Given the description of an element on the screen output the (x, y) to click on. 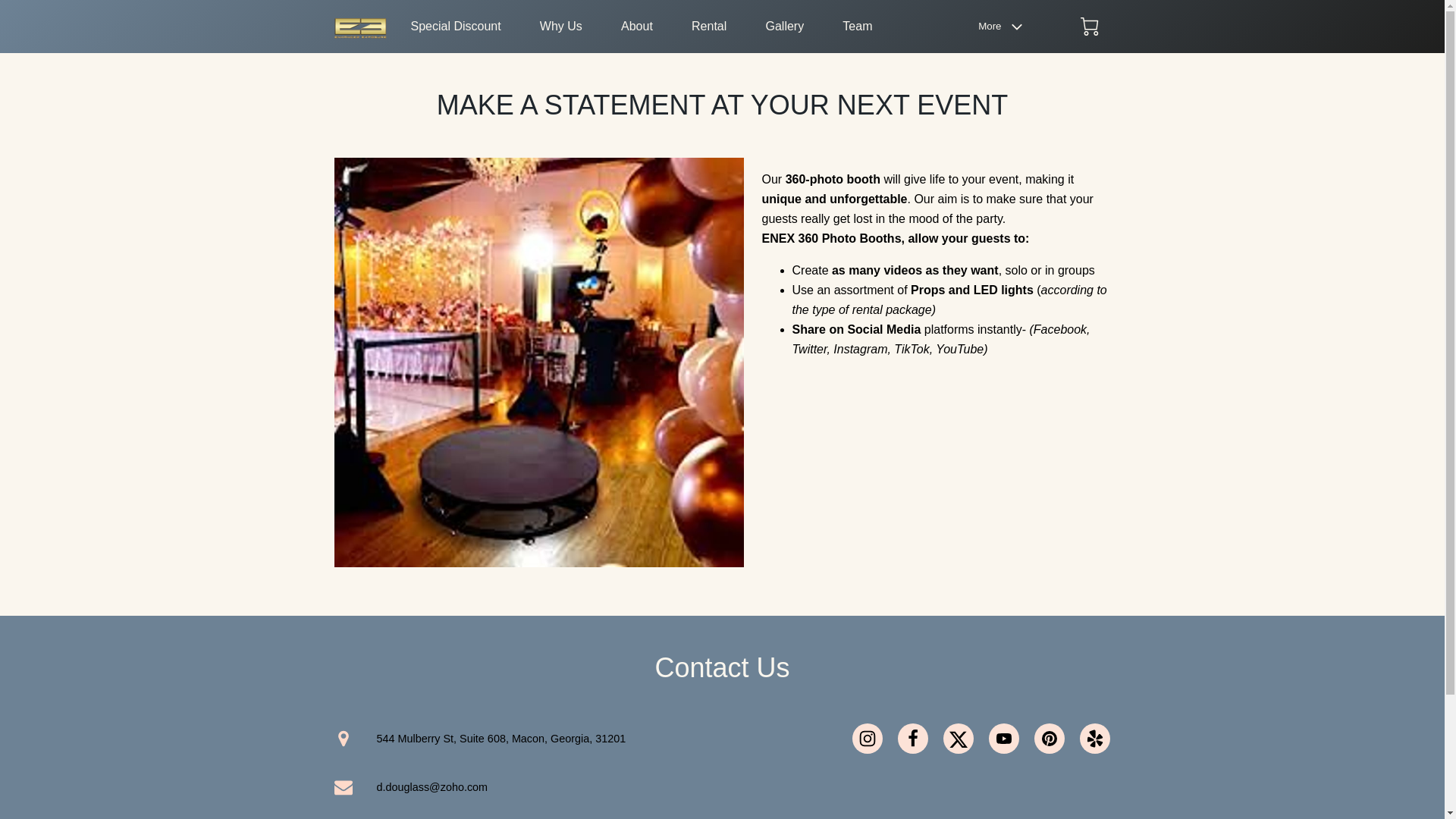
Why Us (561, 26)
0 (1088, 26)
Gallery (784, 26)
Rental (708, 26)
About (636, 26)
Team (857, 26)
More (1004, 26)
Special Discount (455, 26)
544 Mulberry St, Suite 608, Macon, Georgia, 31201 (476, 738)
